Given the description of an element on the screen output the (x, y) to click on. 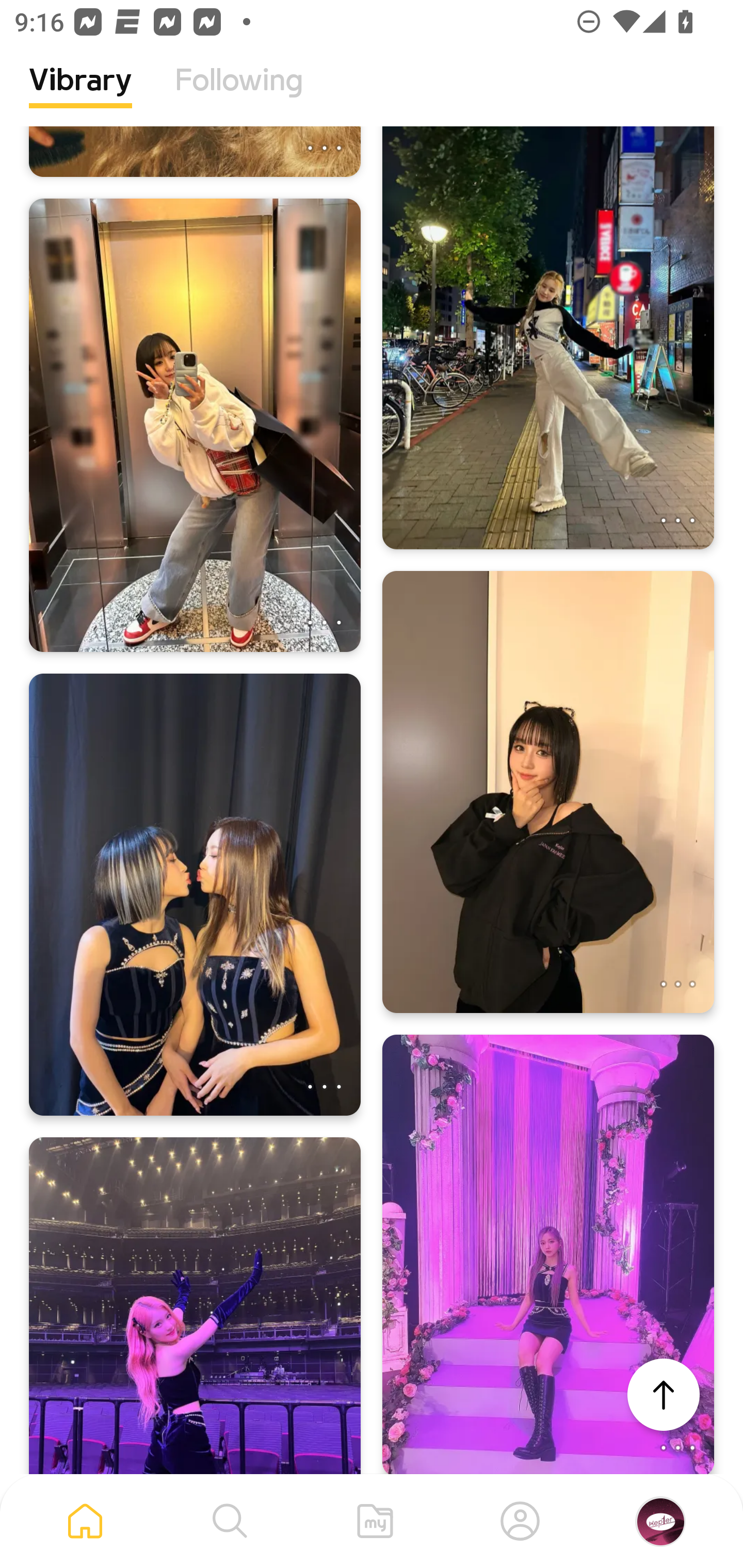
Vibrary (80, 95)
Following (239, 95)
